Given the description of an element on the screen output the (x, y) to click on. 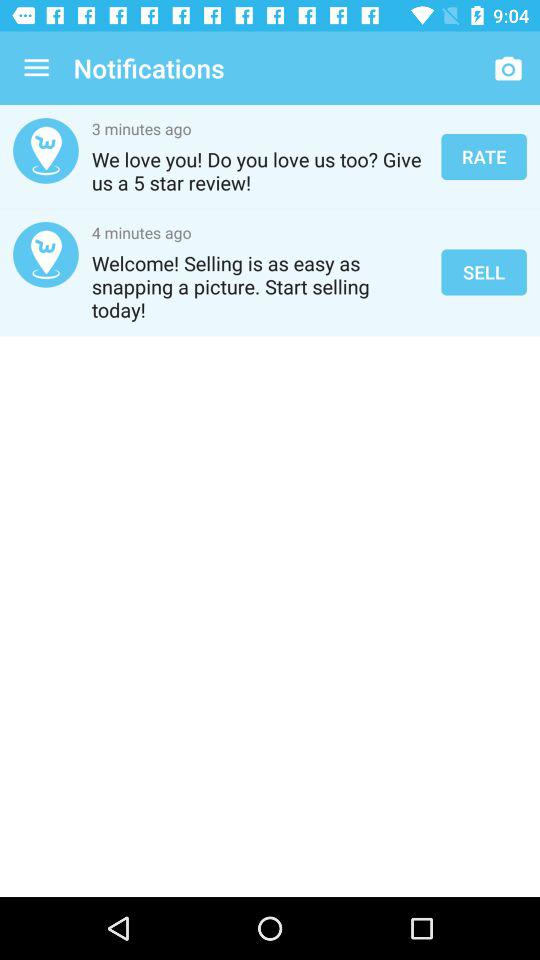
tap the icon next to notifications item (36, 68)
